Given the description of an element on the screen output the (x, y) to click on. 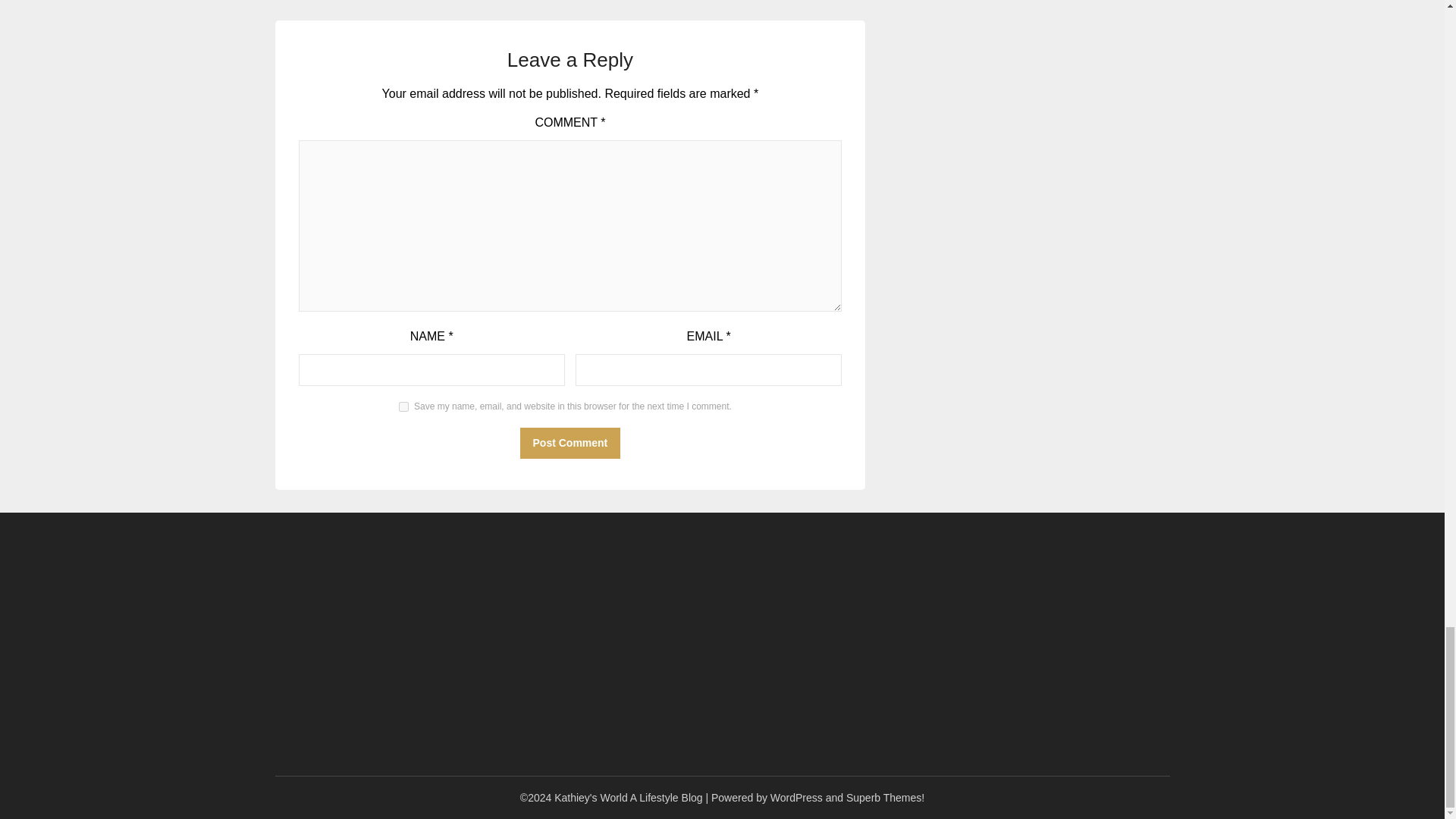
yes (403, 406)
Post Comment (570, 442)
Post Comment (570, 442)
